Given the description of an element on the screen output the (x, y) to click on. 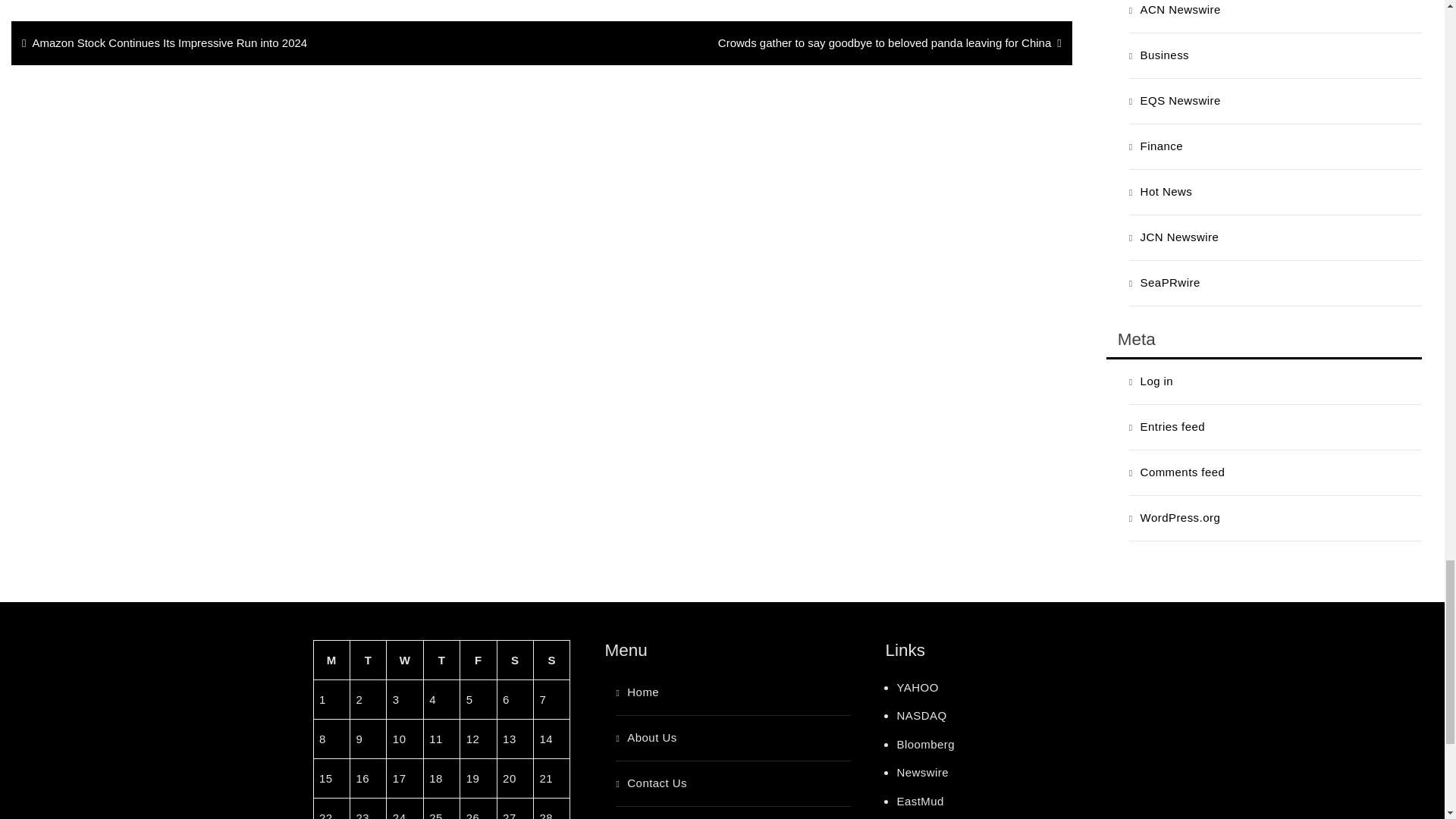
Friday (478, 660)
Amazon Stock Continues Its Impressive Run into 2024 (281, 42)
Wednesday (405, 660)
Sunday (552, 660)
Monday (331, 660)
Thursday (441, 660)
Tuesday (367, 660)
Saturday (514, 660)
